Given the description of an element on the screen output the (x, y) to click on. 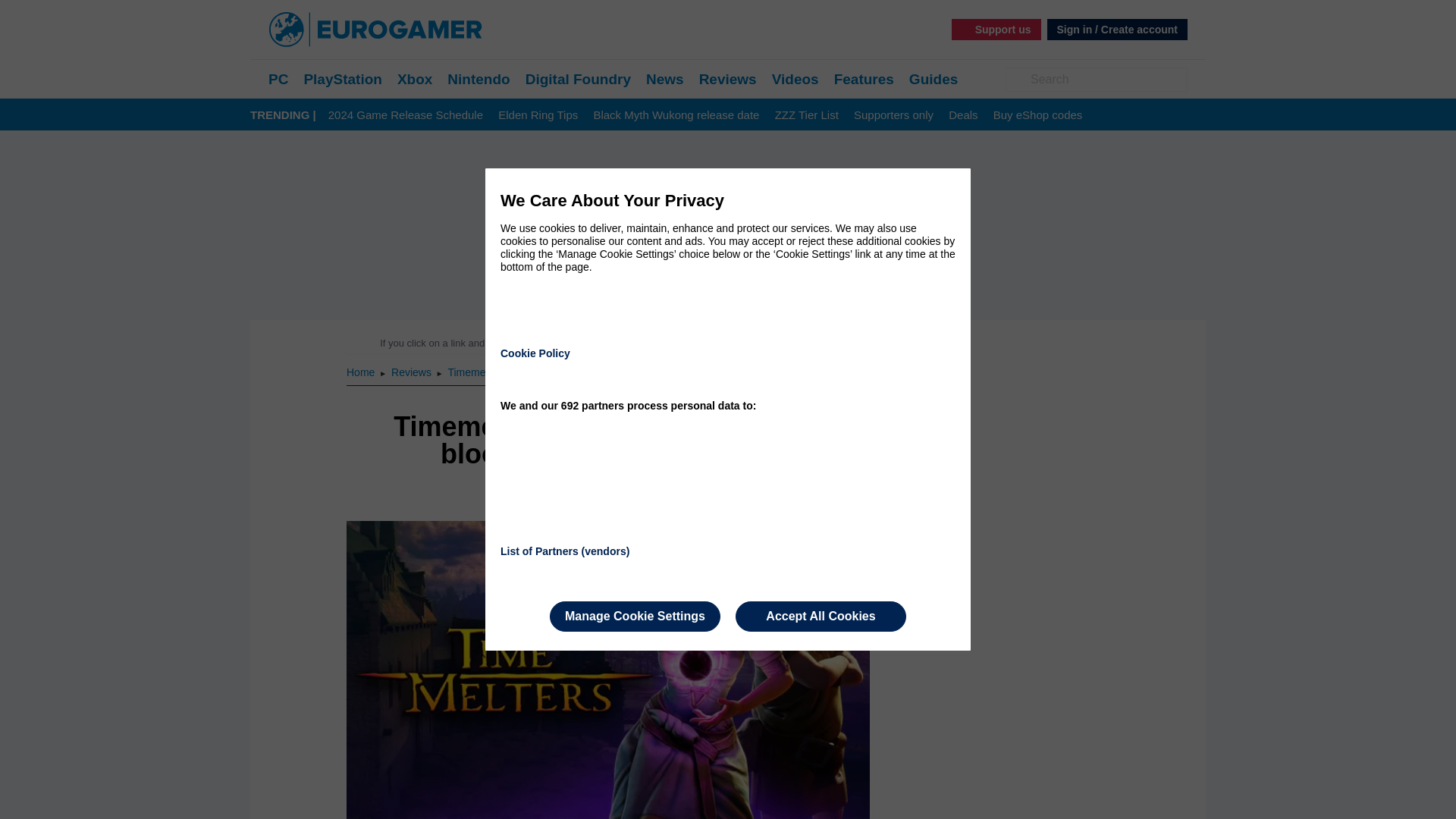
Black Myth Wukong release date (675, 114)
Elden Ring Tips (537, 114)
Deals (962, 114)
Reviews (727, 78)
Features (863, 78)
Reviews (412, 372)
Digital Foundry (577, 78)
Supporters only (893, 114)
Xbox (414, 78)
ZZZ Tier List (806, 114)
